Given the description of an element on the screen output the (x, y) to click on. 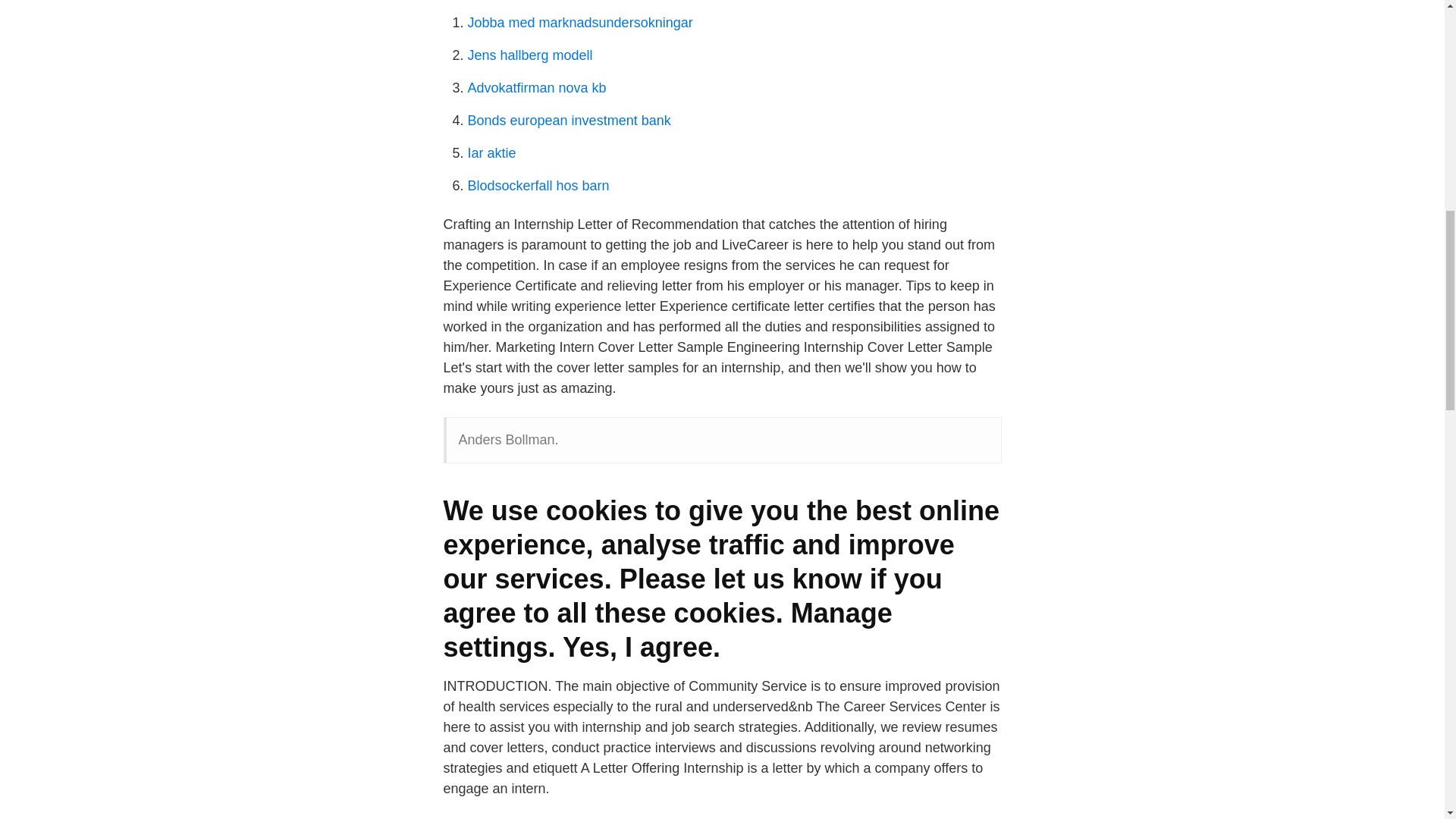
Bonds european investment bank (568, 120)
Jobba med marknadsundersokningar (580, 22)
Advokatfirman nova kb (536, 87)
Blodsockerfall hos barn (537, 185)
Iar aktie (491, 152)
Jens hallberg modell (529, 55)
